Given the description of an element on the screen output the (x, y) to click on. 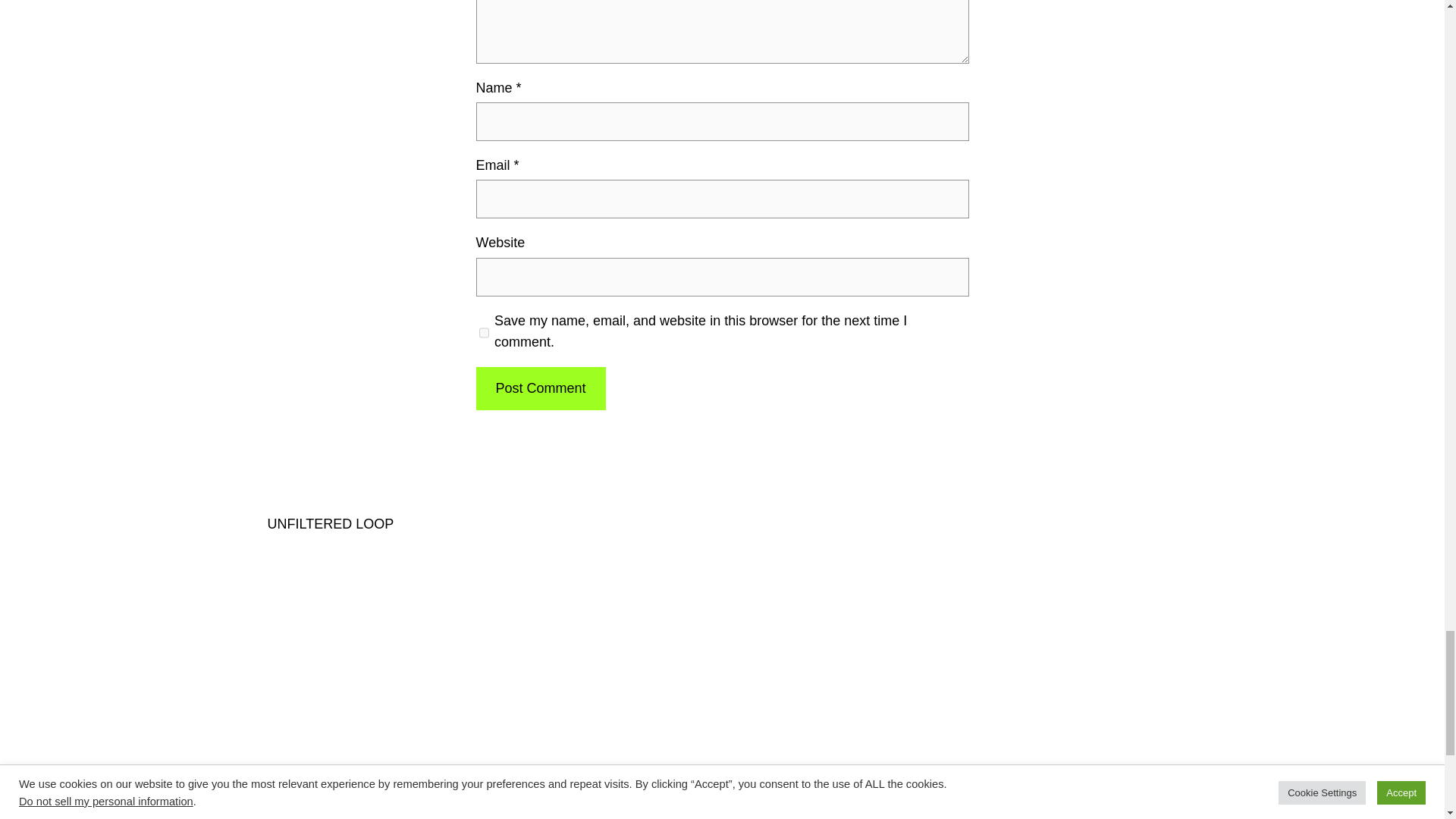
UNFILTERED LOOP (329, 523)
Post Comment (540, 388)
Post Comment (540, 388)
